Given the description of an element on the screen output the (x, y) to click on. 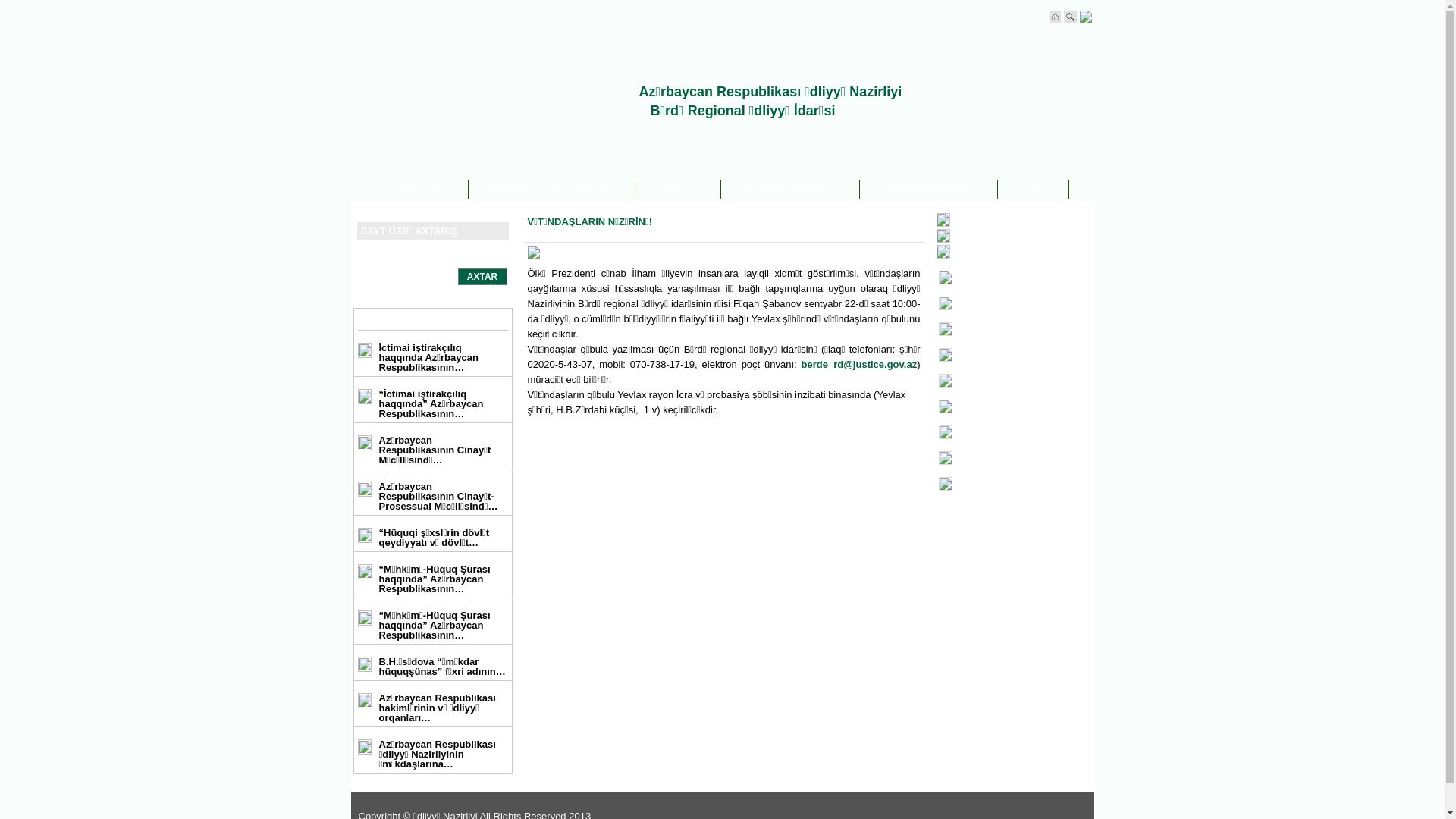
berde_rd@justice.gov.az Element type: text (859, 364)
AXTAR Element type: text (482, 276)
